Given the description of an element on the screen output the (x, y) to click on. 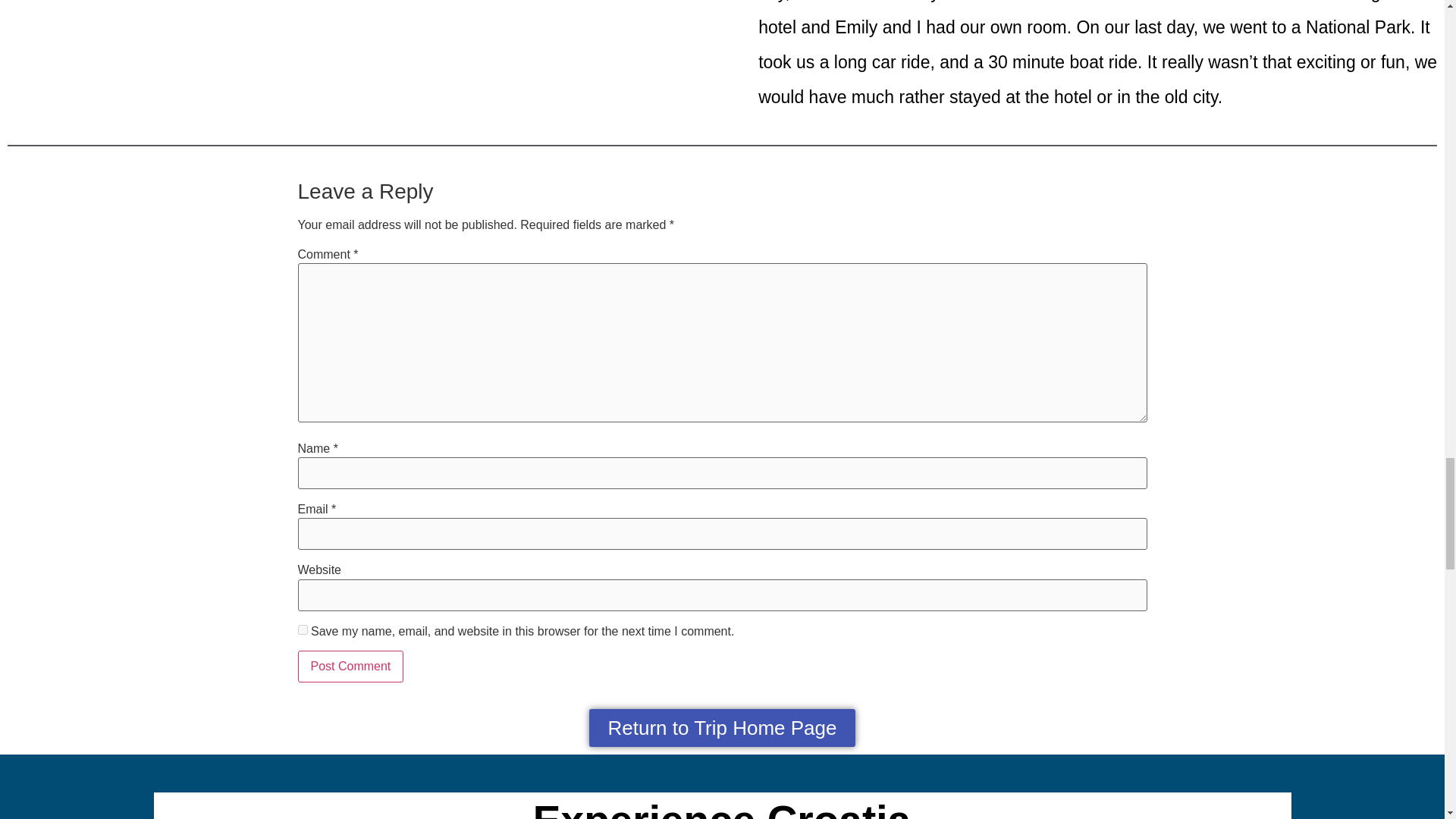
yes (302, 629)
Return to Trip Home Page (721, 727)
Post Comment (350, 666)
Post Comment (350, 666)
